Given the description of an element on the screen output the (x, y) to click on. 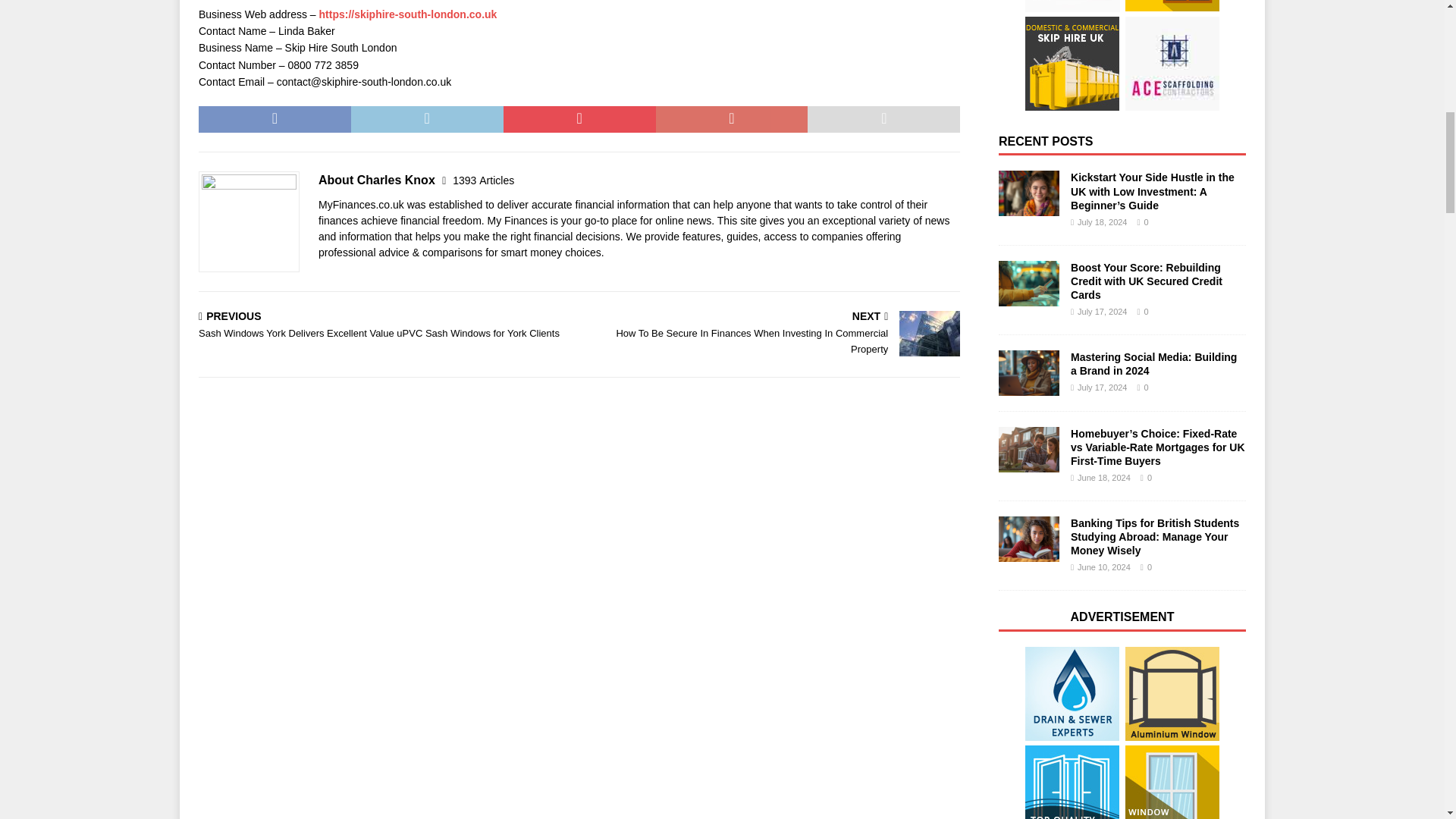
More articles written by Charles Knox' (482, 180)
